Given the description of an element on the screen output the (x, y) to click on. 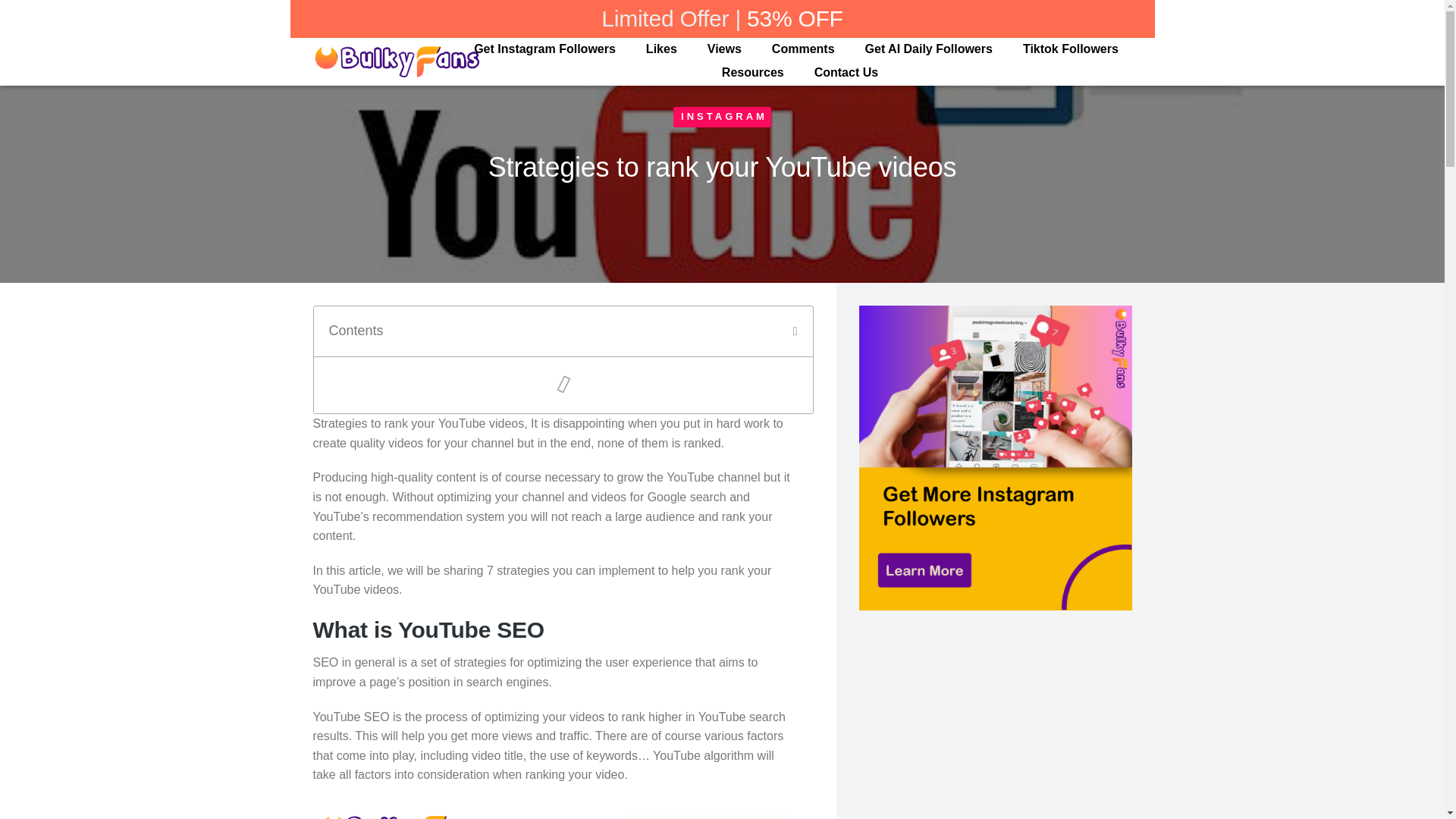
Get AI Daily Followers (928, 49)
Comments (802, 49)
Strategies to rank your YouTube videos 1 (555, 809)
INSTAGRAM (724, 116)
Contact Us (846, 72)
Get Instagram Followers (545, 49)
Likes (661, 49)
Views (723, 49)
Tiktok Followers (1070, 49)
Resources (752, 72)
